Given the description of an element on the screen output the (x, y) to click on. 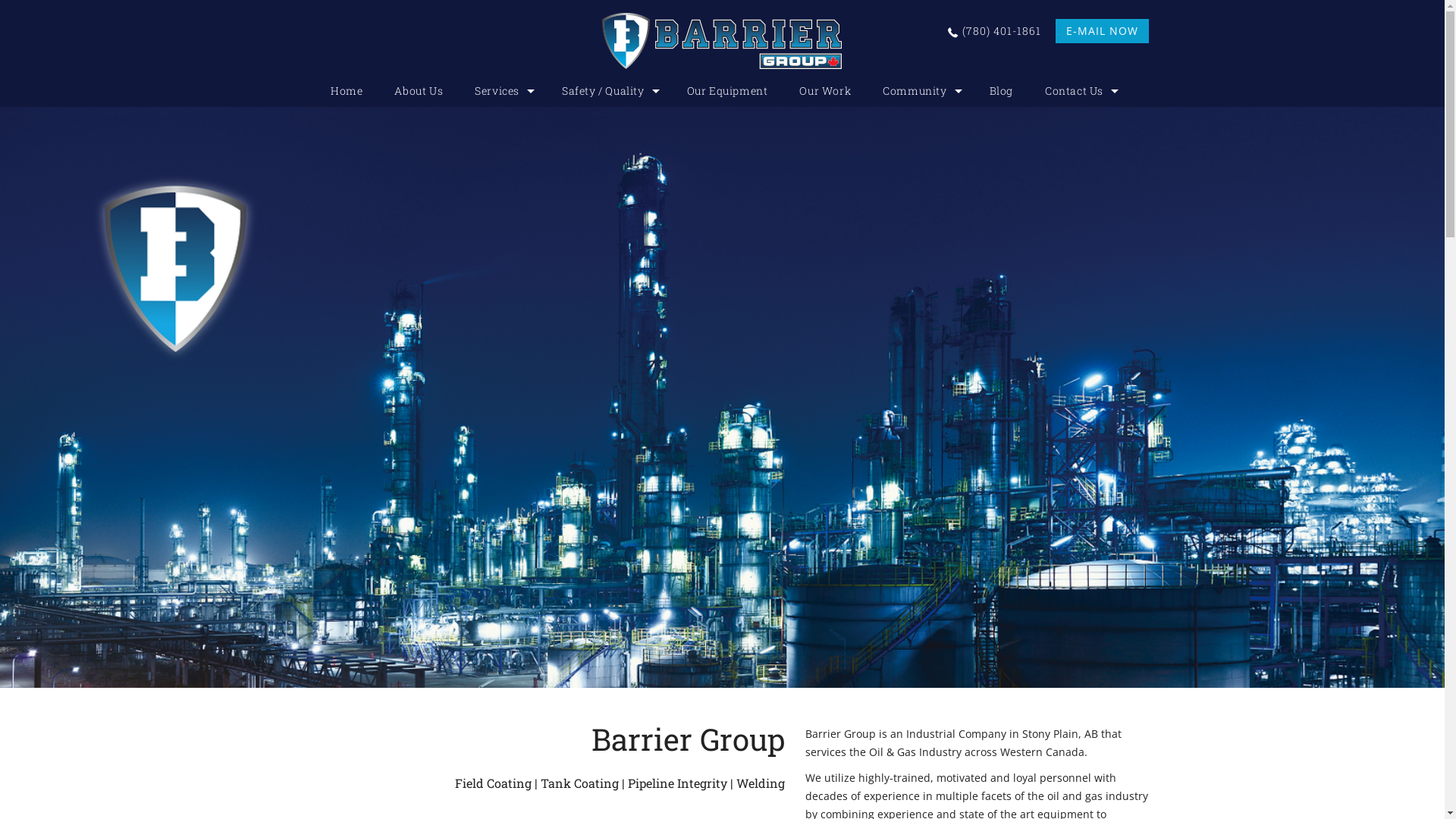
Community Element type: text (919, 90)
Services Element type: text (502, 90)
E-MAIL NOW Element type: text (1101, 30)
Home Element type: text (346, 90)
Our Equipment Element type: text (727, 90)
Contact Us Element type: text (1079, 90)
Safety / Quality Element type: text (608, 90)
Our Work Element type: text (824, 90)
Blog Element type: text (1001, 90)
(780) 401-1861 Element type: text (999, 30)
About Us Element type: text (418, 90)
